Given the description of an element on the screen output the (x, y) to click on. 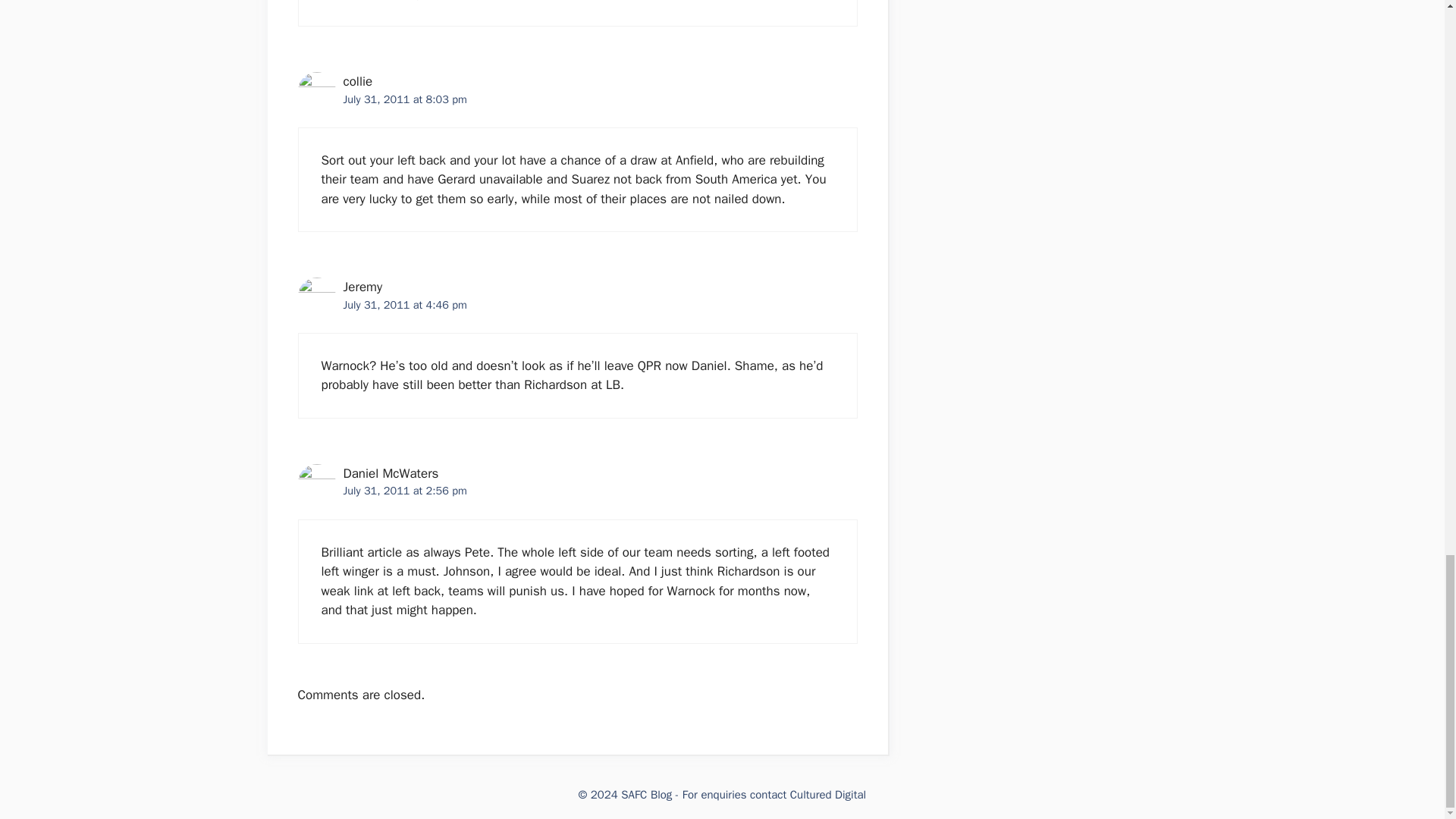
July 31, 2011 at 4:46 pm (403, 305)
July 31, 2011 at 8:03 pm (403, 98)
July 31, 2011 at 2:56 pm (403, 490)
